Given the description of an element on the screen output the (x, y) to click on. 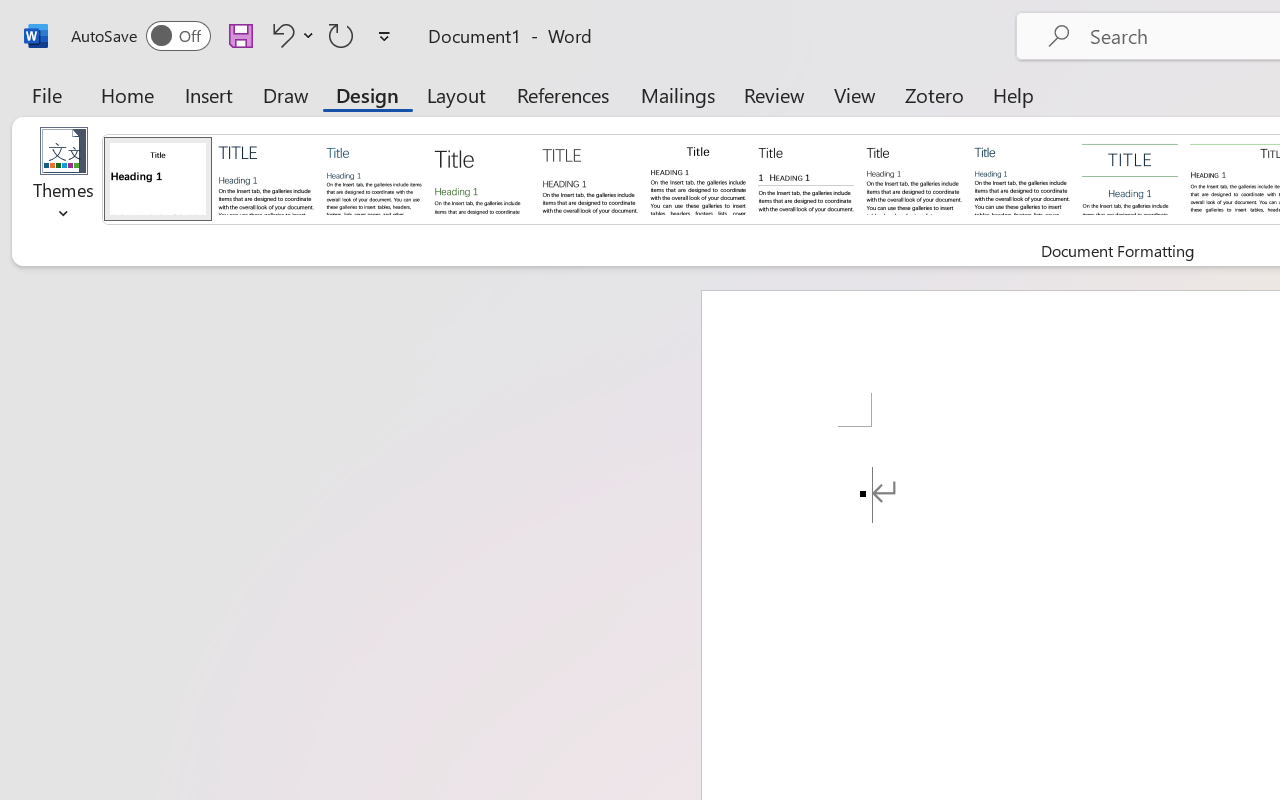
Black & White (Classic) (697, 178)
Undo Apply Quick Style (290, 35)
